Given the description of an element on the screen output the (x, y) to click on. 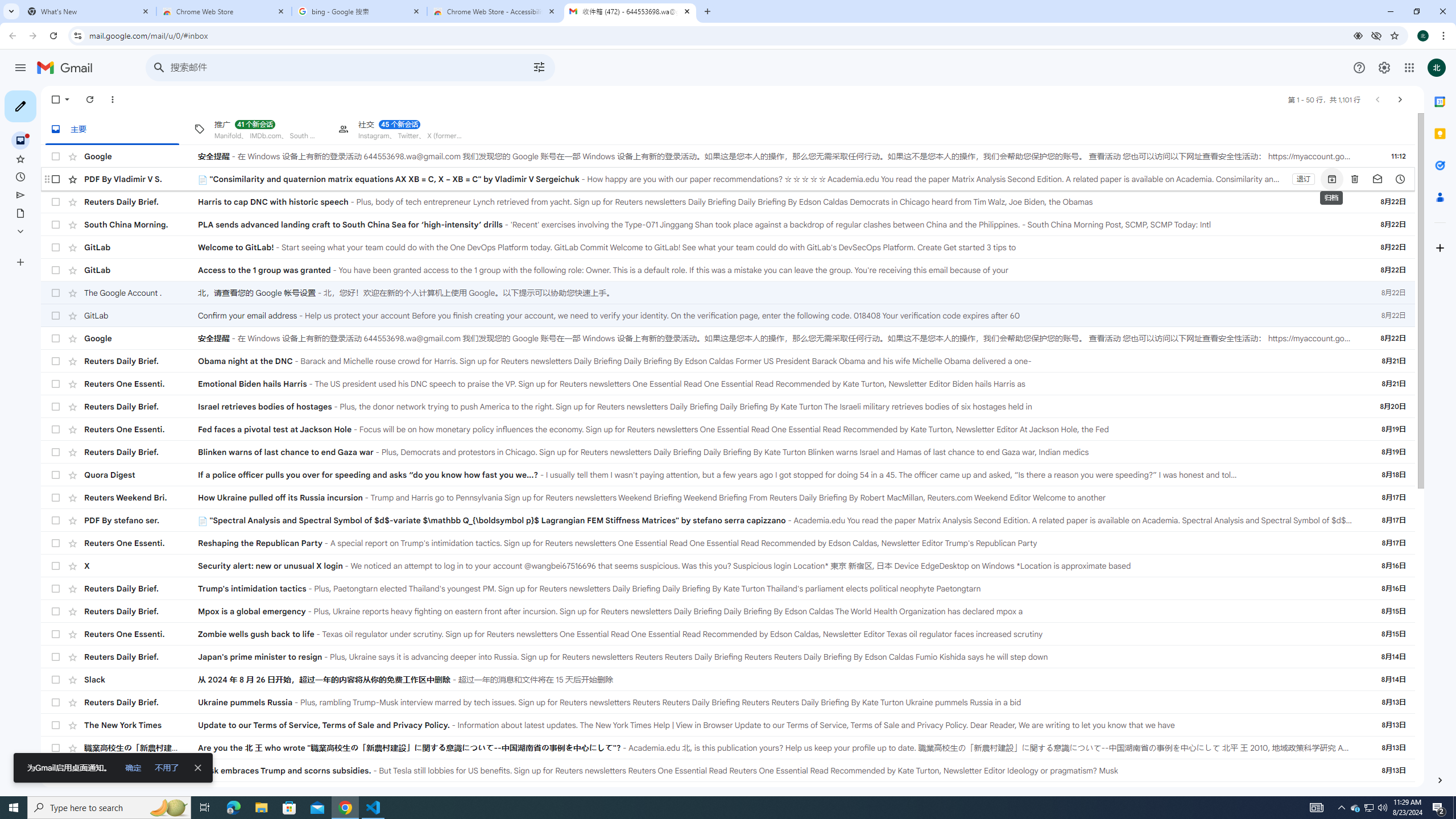
Reuters Daily Brief. (141, 702)
Quora Digest (141, 474)
Reuters One Essenti. (141, 770)
